Given the description of an element on the screen output the (x, y) to click on. 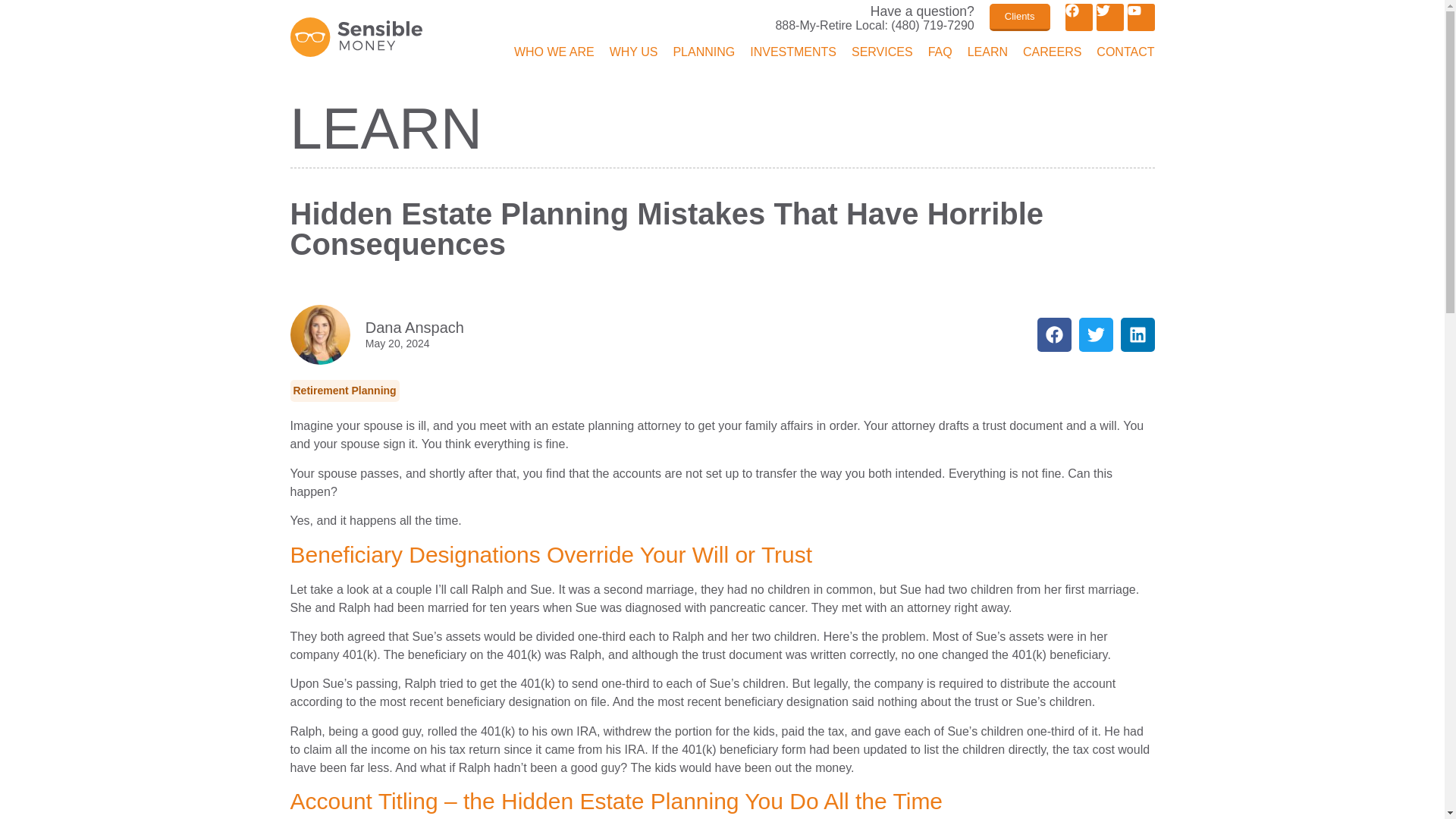
PLANNING (703, 53)
SERVICES (881, 53)
WHY US (634, 53)
WHO WE ARE (553, 53)
Clients (1019, 17)
Retirement Planning (343, 391)
FAQ (940, 53)
CONTACT (1125, 53)
INVESTMENTS (792, 53)
CAREERS (1052, 53)
